Given the description of an element on the screen output the (x, y) to click on. 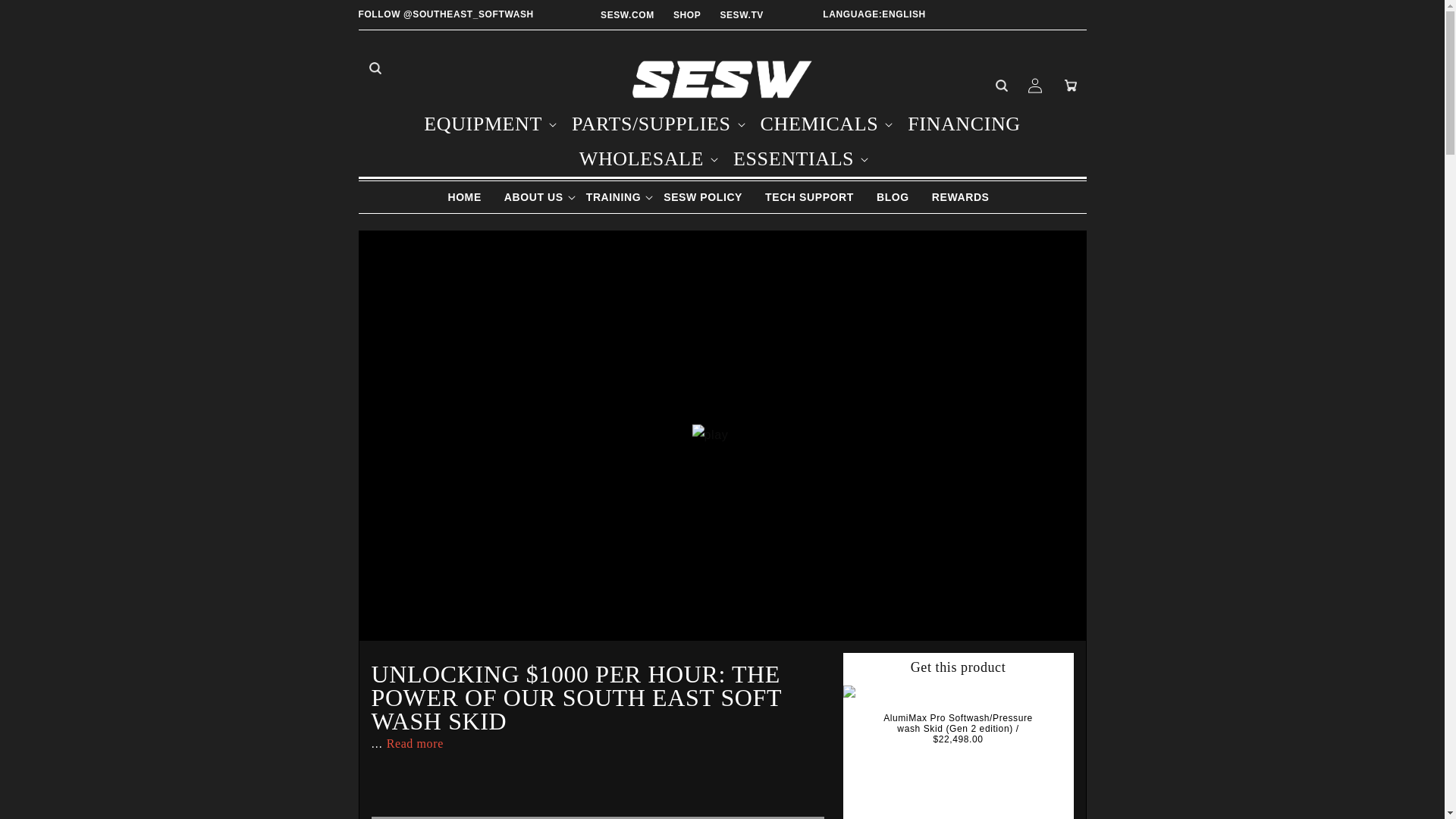
SHOP (686, 15)
SESW.COM (626, 15)
LANGUAGE:ENGLISH (871, 14)
SESW.TV (740, 15)
Skip to content (45, 17)
